Given the description of an element on the screen output the (x, y) to click on. 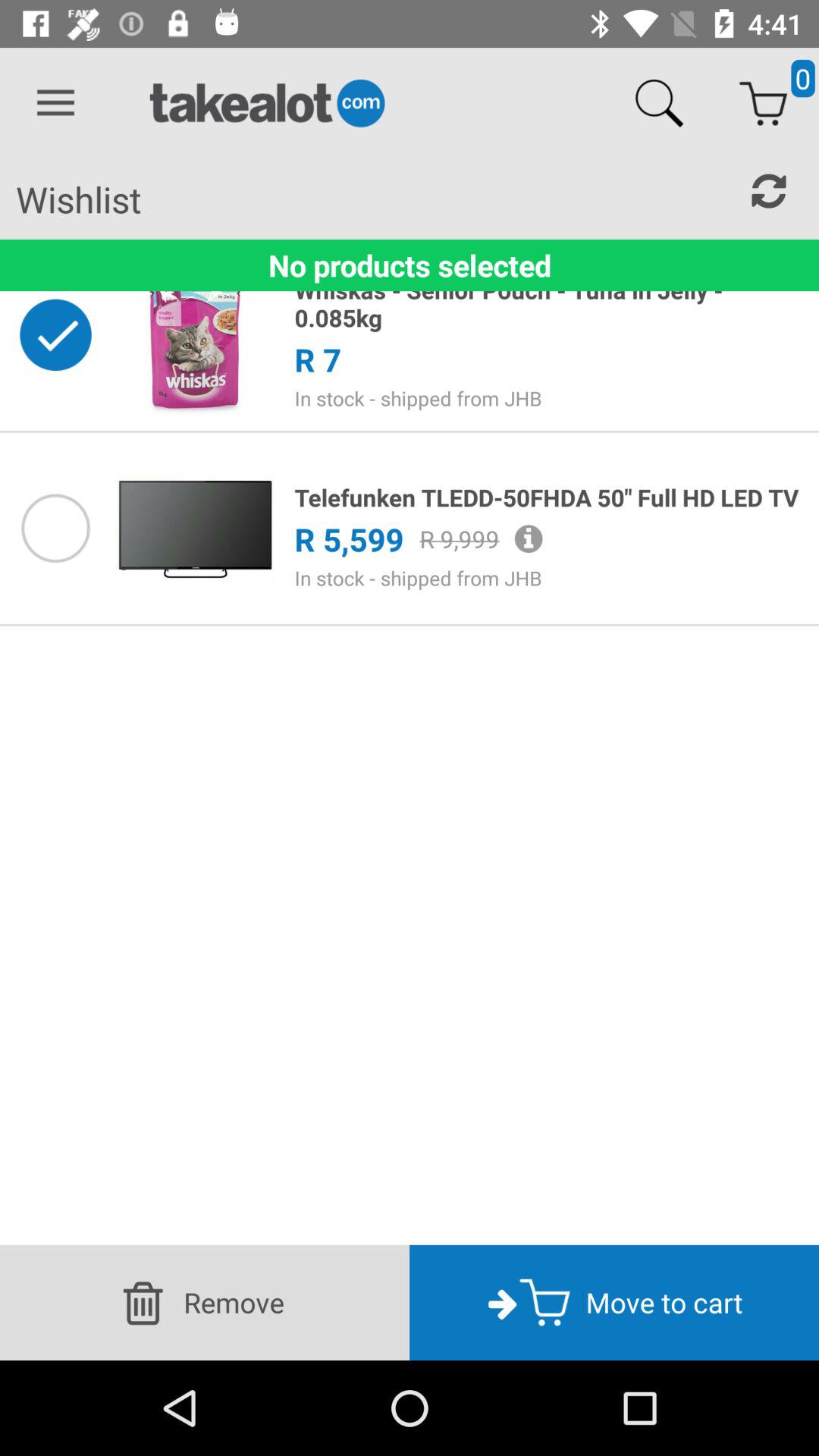
choose this product (55, 528)
